Given the description of an element on the screen output the (x, y) to click on. 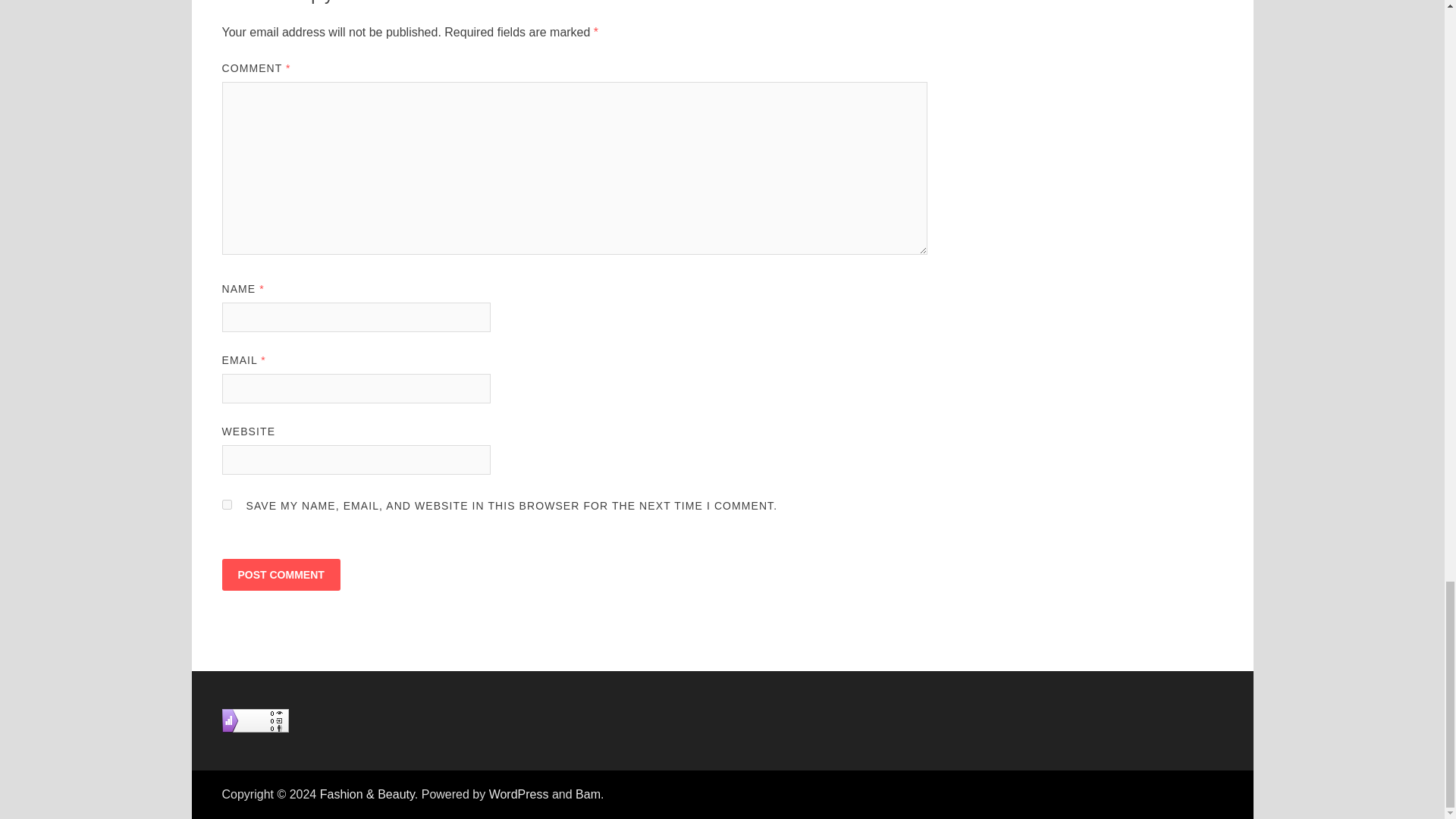
Bam (587, 793)
Post Comment (280, 574)
Post Comment (280, 574)
yes (226, 504)
WordPress (518, 793)
